Given the description of an element on the screen output the (x, y) to click on. 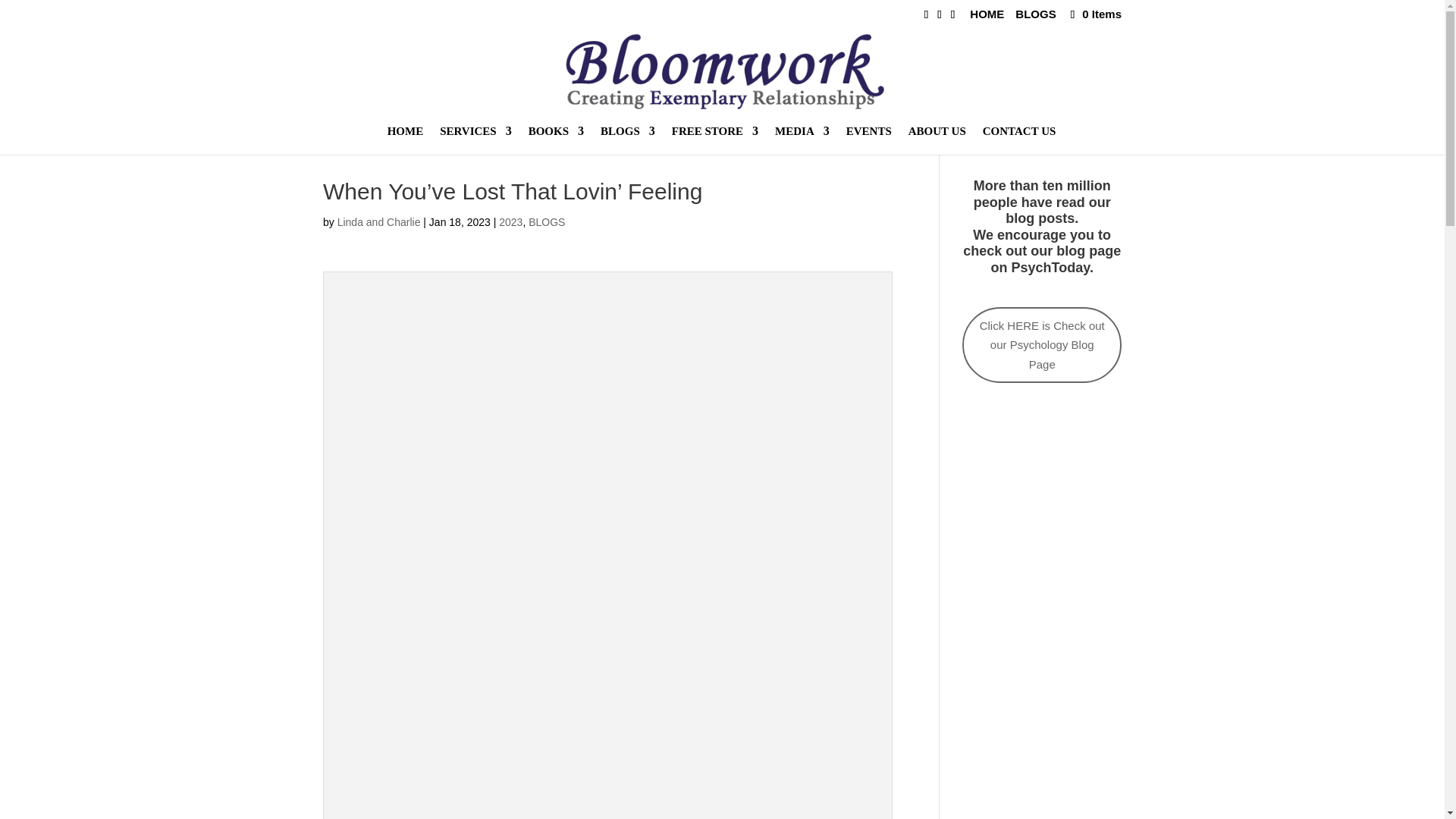
Posts by Linda and Charlie (378, 222)
BOOKS (555, 140)
HOME (986, 17)
BLOGS (627, 140)
FREE STORE (714, 140)
0 Items (1094, 13)
HOME (405, 140)
SERVICES (475, 140)
BLOGS (1034, 17)
